Given the description of an element on the screen output the (x, y) to click on. 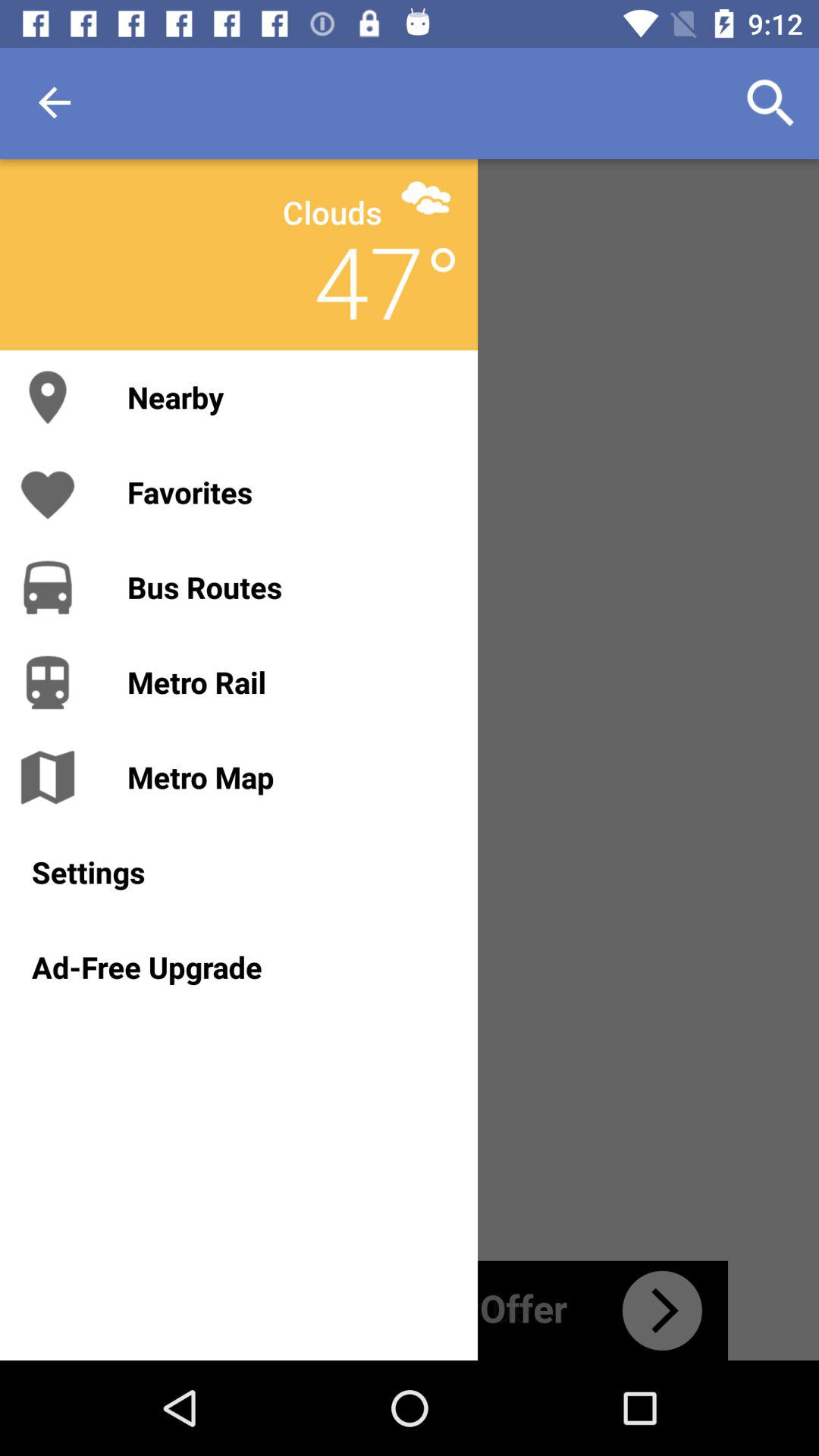
flip until nearby (286, 397)
